Given the description of an element on the screen output the (x, y) to click on. 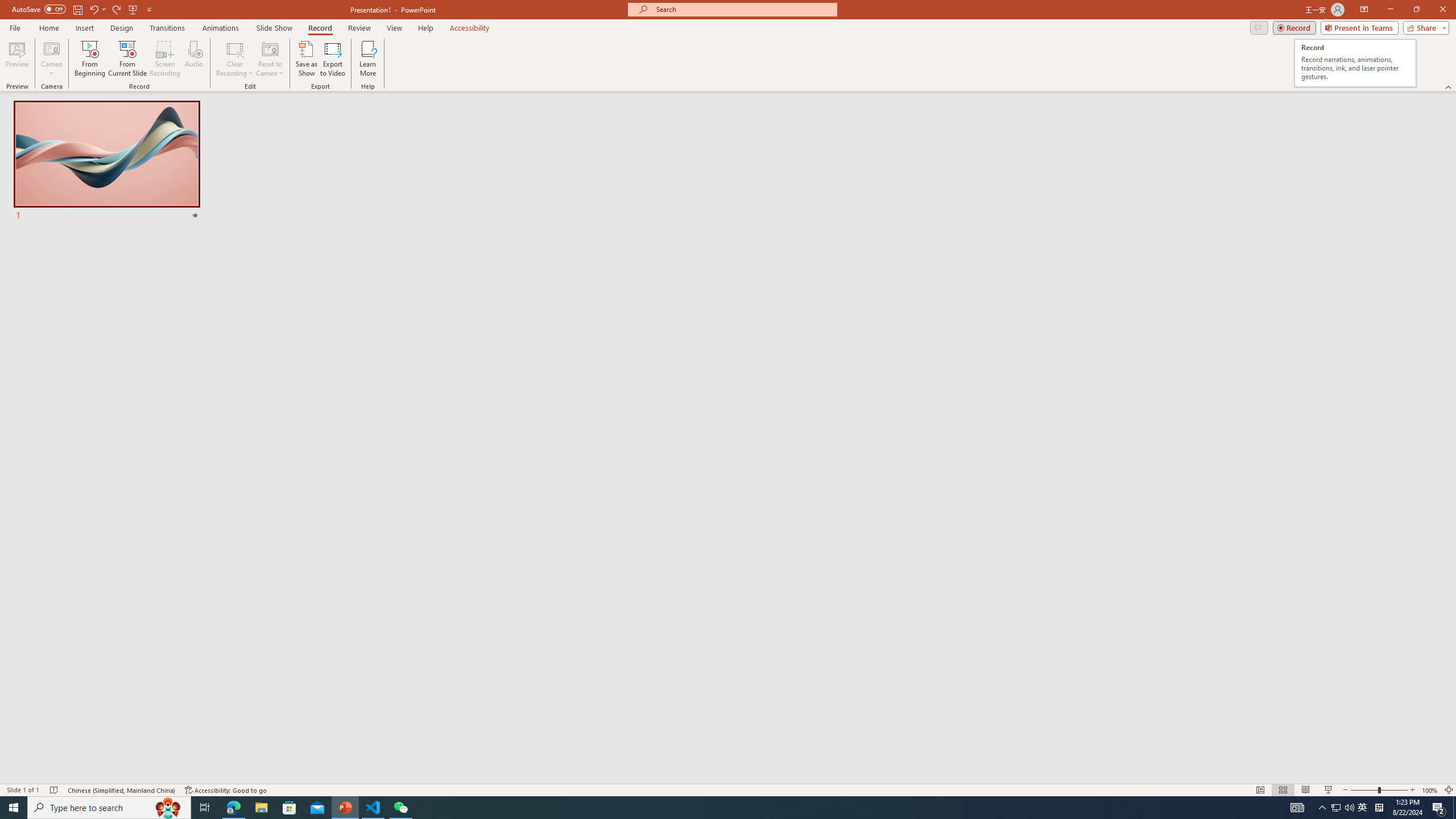
Export to Video (332, 58)
